Given the description of an element on the screen output the (x, y) to click on. 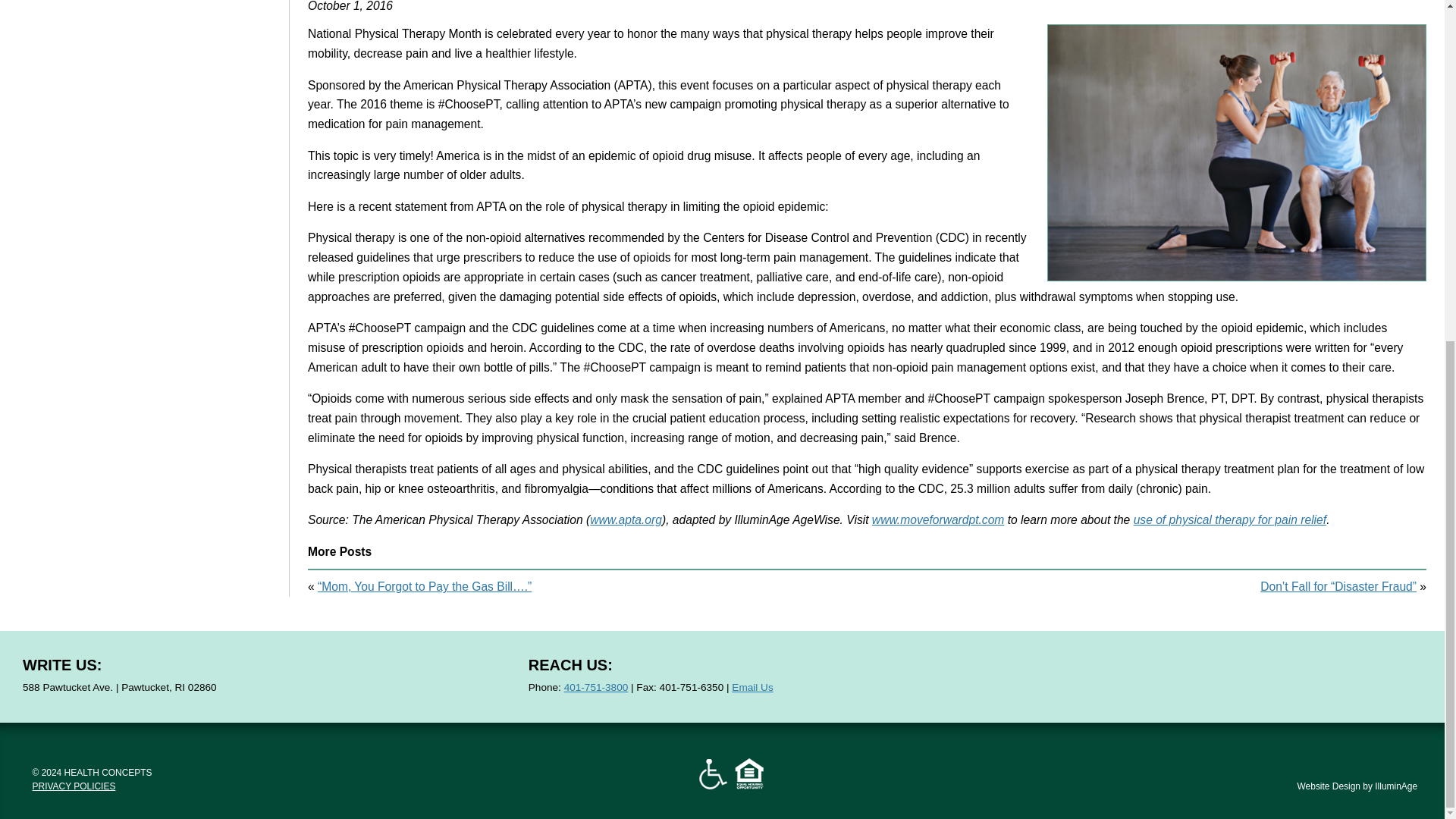
Email Us (752, 686)
www.moveforwardpt.com (938, 519)
Website Design by IlluminAge (1357, 786)
401-751-3800 (596, 686)
PRIVACY POLICIES (74, 786)
use of physical therapy for pain relief (1230, 519)
Facebook (1152, 676)
www.apta.org (625, 519)
